Given the description of an element on the screen output the (x, y) to click on. 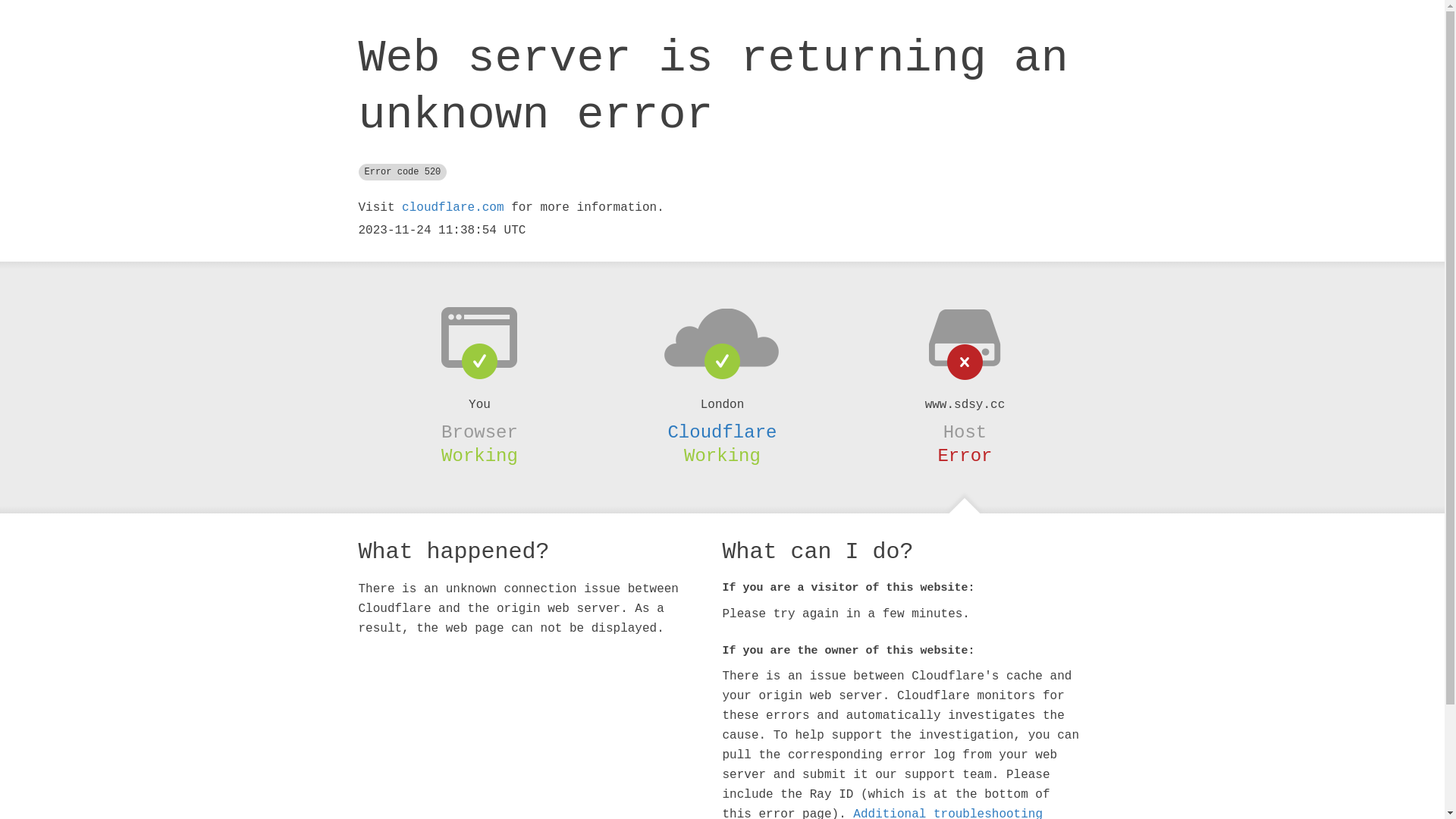
Cloudflare Element type: text (721, 432)
cloudflare.com Element type: text (452, 207)
